Given the description of an element on the screen output the (x, y) to click on. 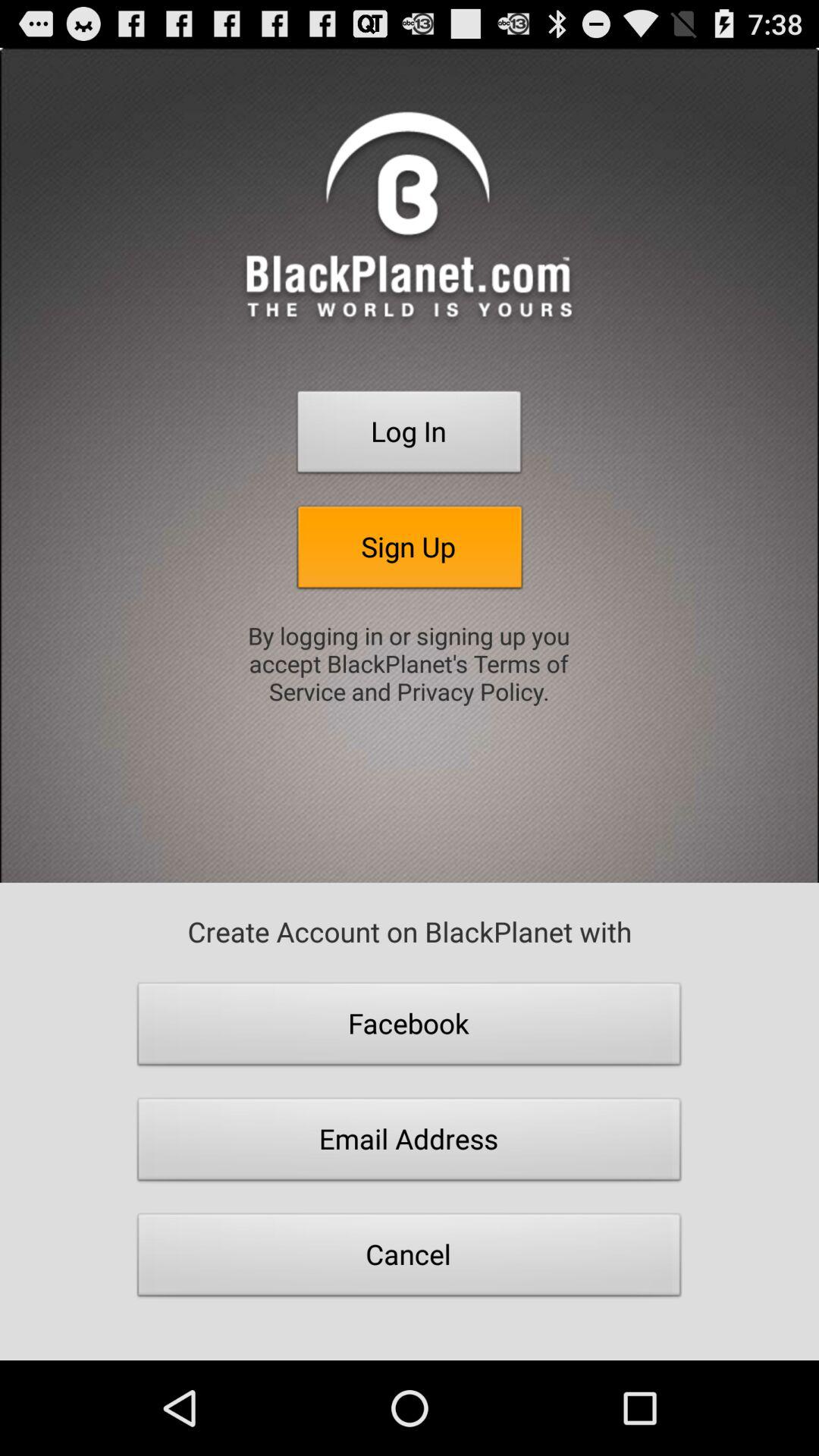
scroll to cancel button (409, 1258)
